Given the description of an element on the screen output the (x, y) to click on. 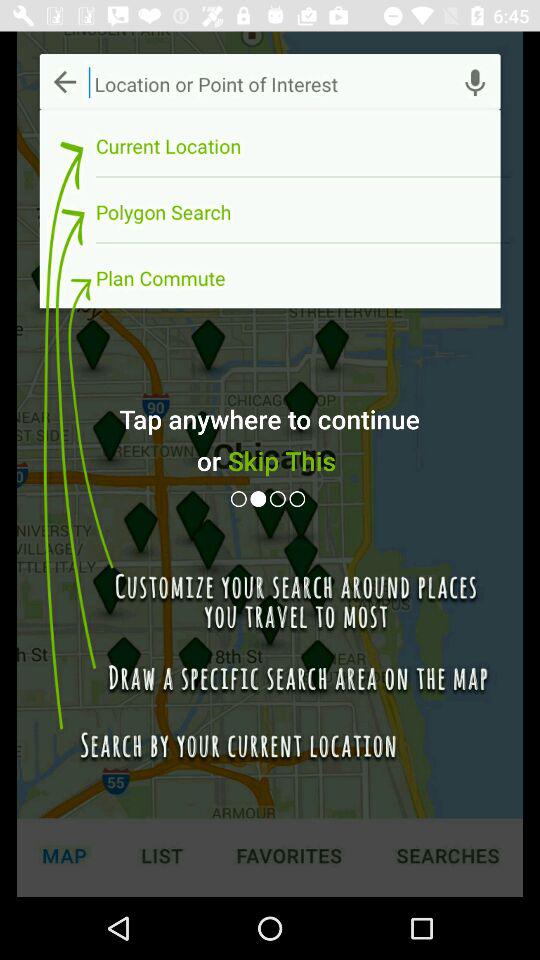
next page (279, 498)
